Given the description of an element on the screen output the (x, y) to click on. 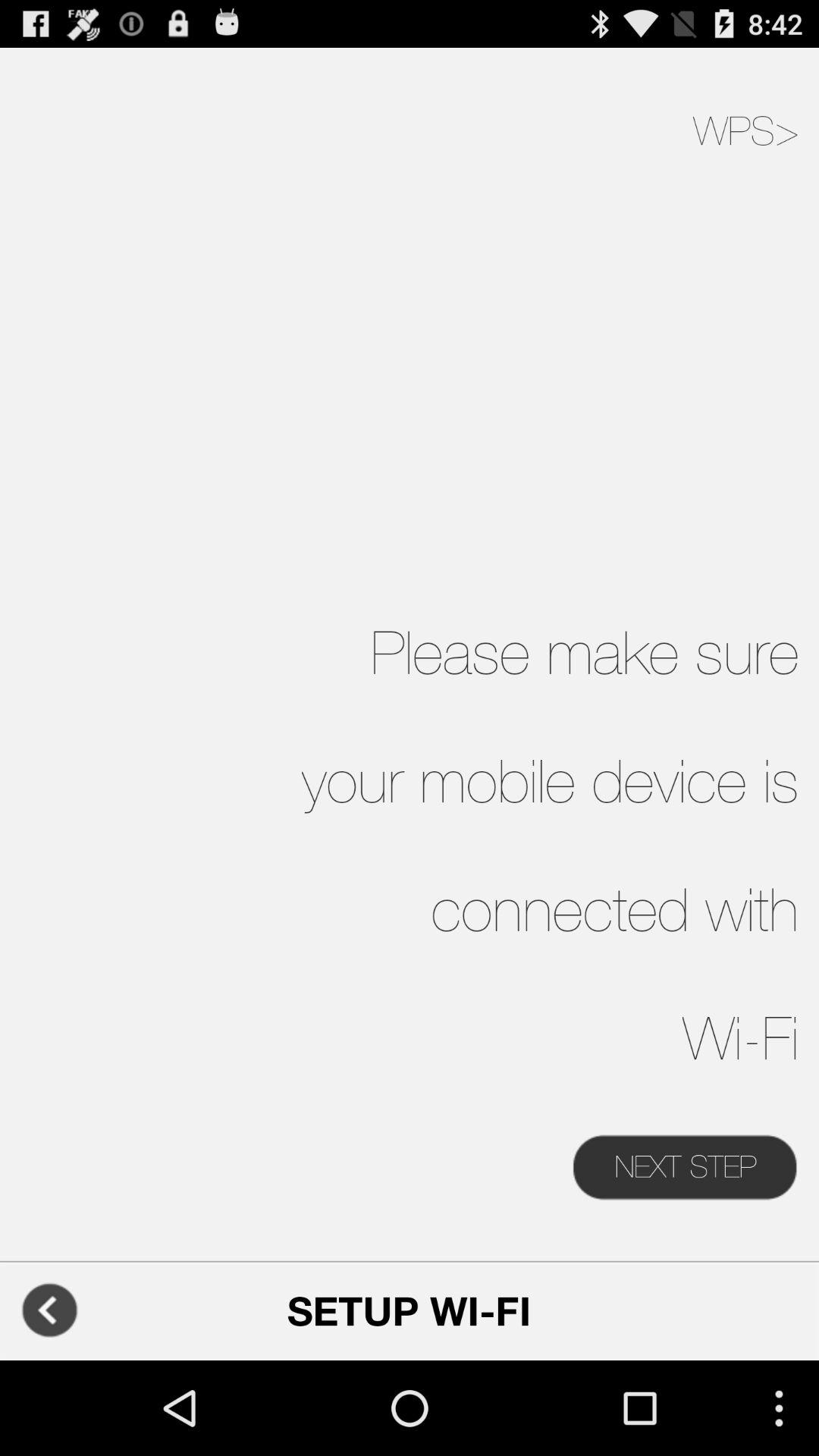
go back (49, 1310)
